Given the description of an element on the screen output the (x, y) to click on. 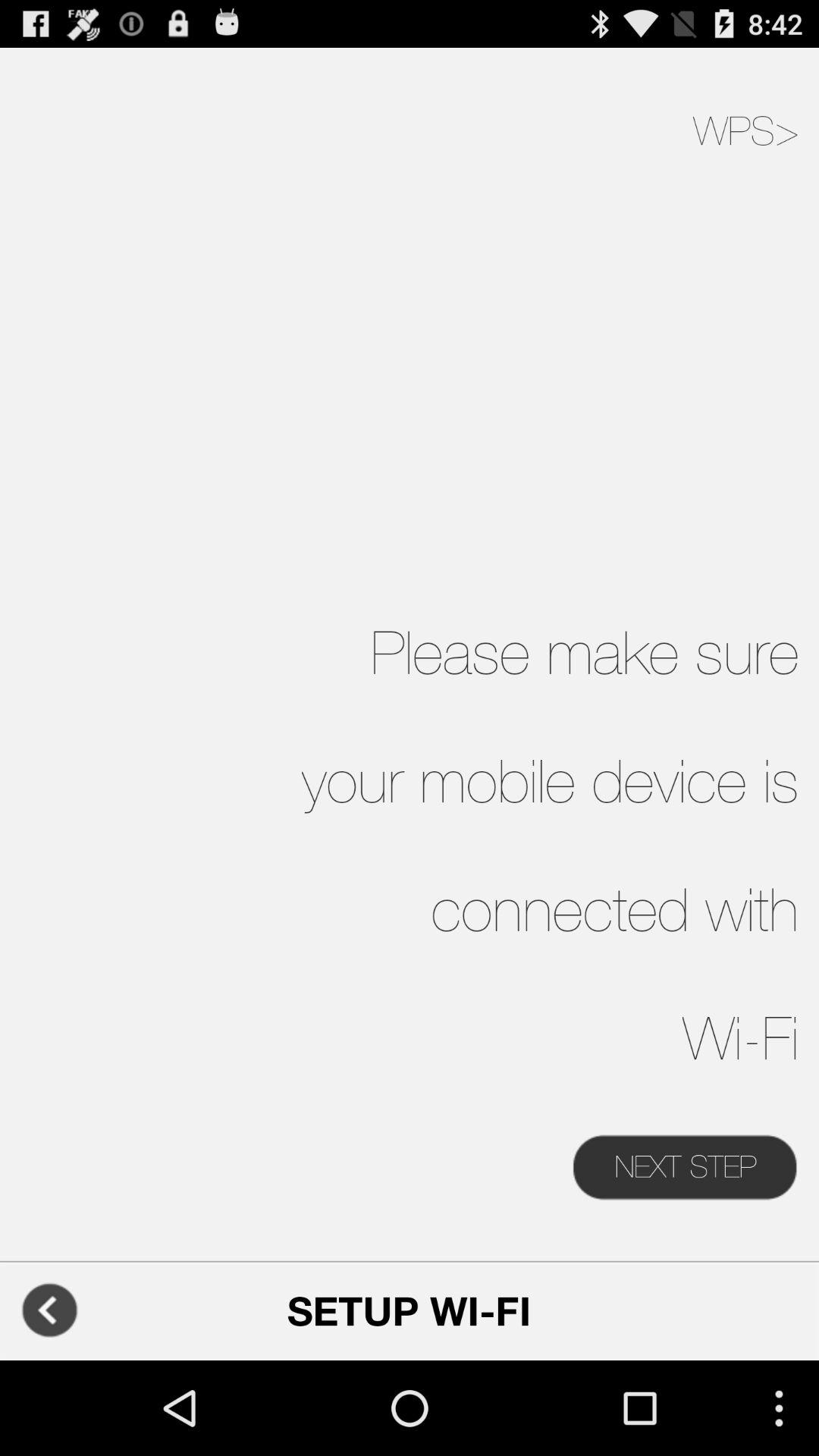
go back (49, 1310)
